Given the description of an element on the screen output the (x, y) to click on. 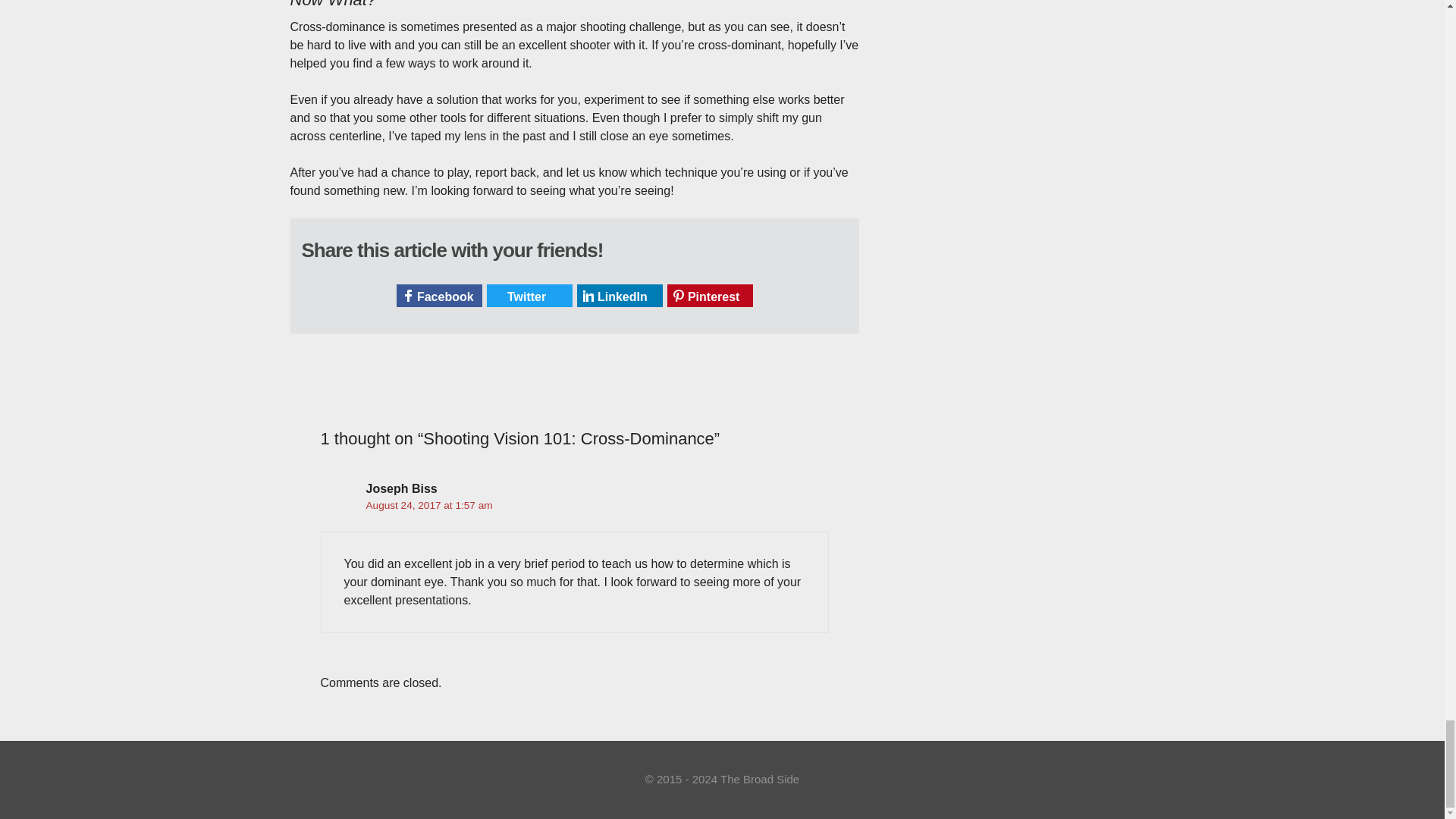
 LinkedIn (619, 295)
 Twitter (529, 295)
 Pinterest (709, 295)
 Facebook (438, 295)
August 24, 2017 at 1:57 am (428, 505)
